Given the description of an element on the screen output the (x, y) to click on. 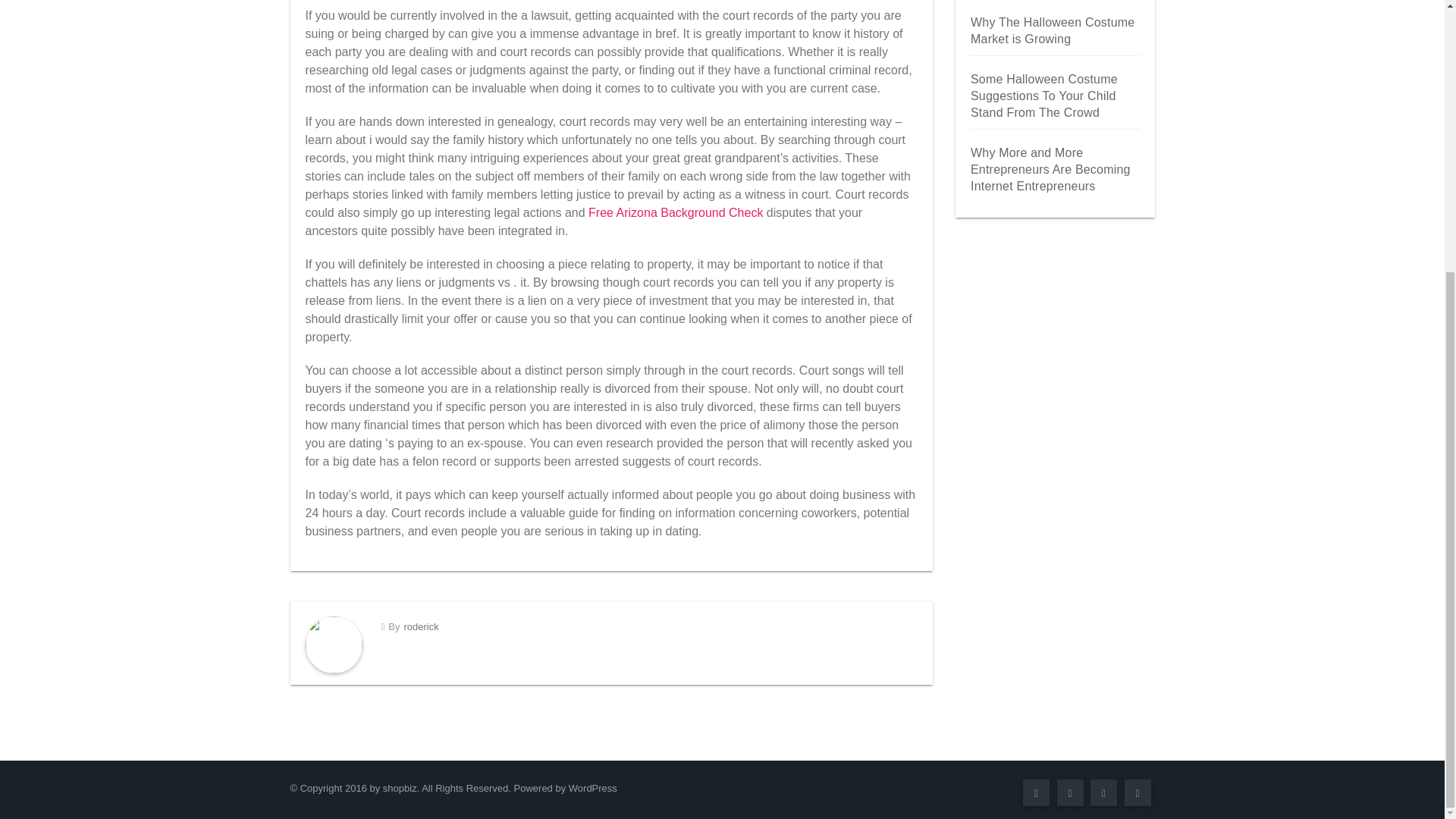
roderick (420, 626)
WordPress (593, 787)
Why The Halloween Costume Market is Growing (1052, 30)
Free Arizona Background Check (675, 212)
shopbiz (399, 787)
